Given the description of an element on the screen output the (x, y) to click on. 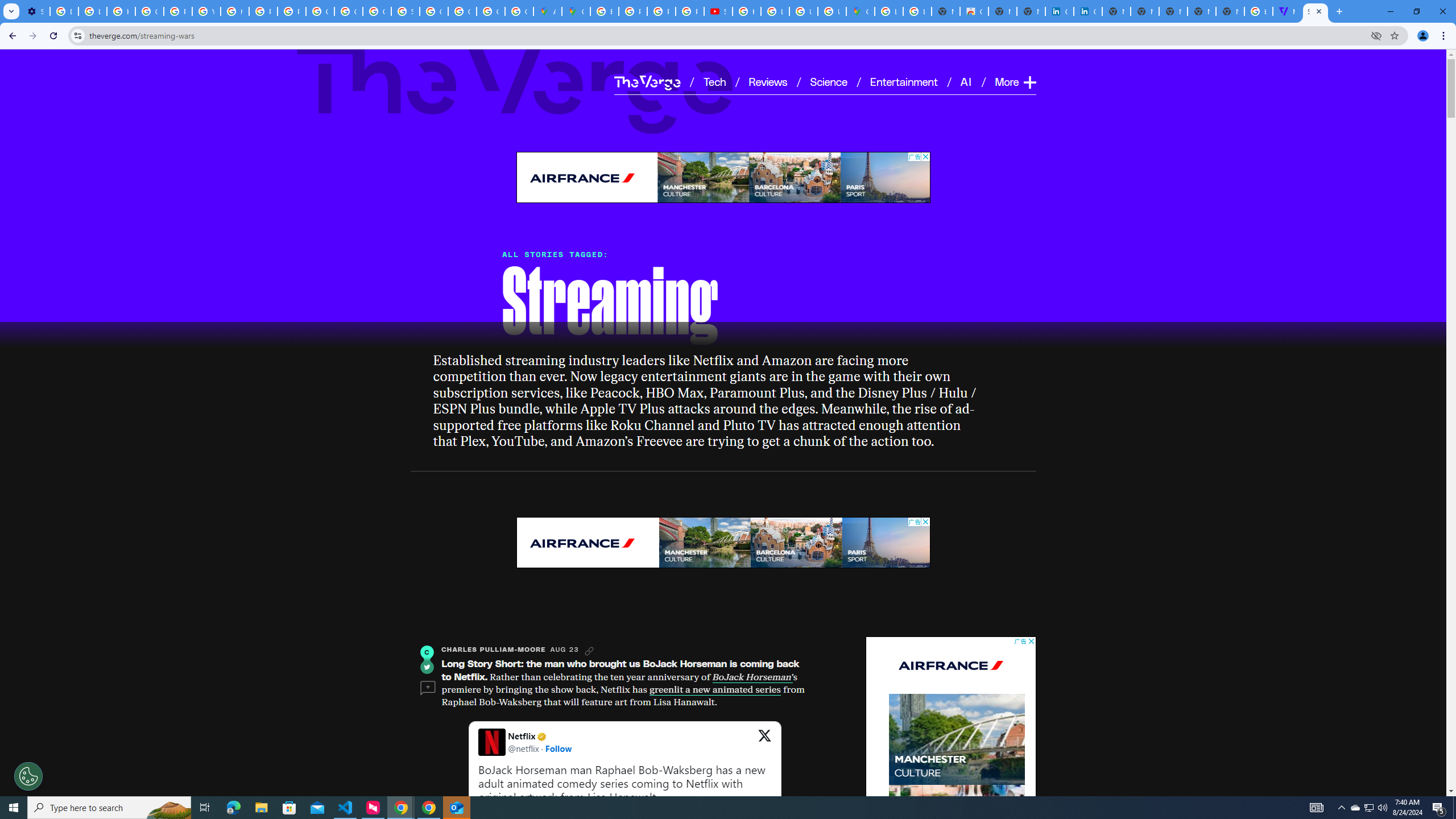
Privacy Help Center - Policies Help (178, 11)
Cookie Policy | LinkedIn (1058, 11)
Comments (427, 688)
AutomationID: cbb (1030, 641)
Settings - Customize profile (35, 11)
Entertainment (904, 81)
New Tab (1230, 11)
Science (828, 81)
